Given the description of an element on the screen output the (x, y) to click on. 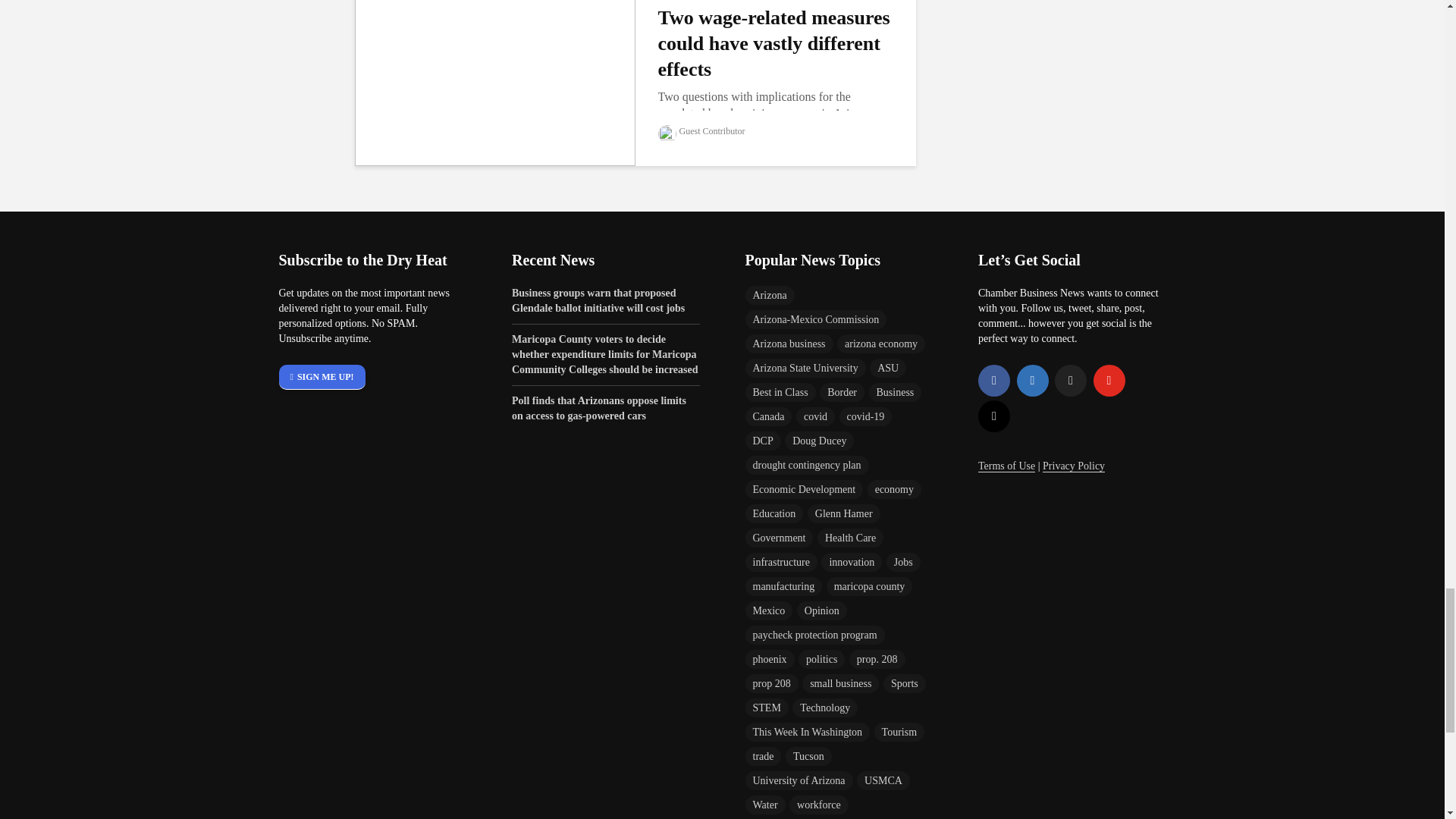
YouTube (1109, 380)
Facebook (994, 380)
Linkedin (1032, 380)
